Given the description of an element on the screen output the (x, y) to click on. 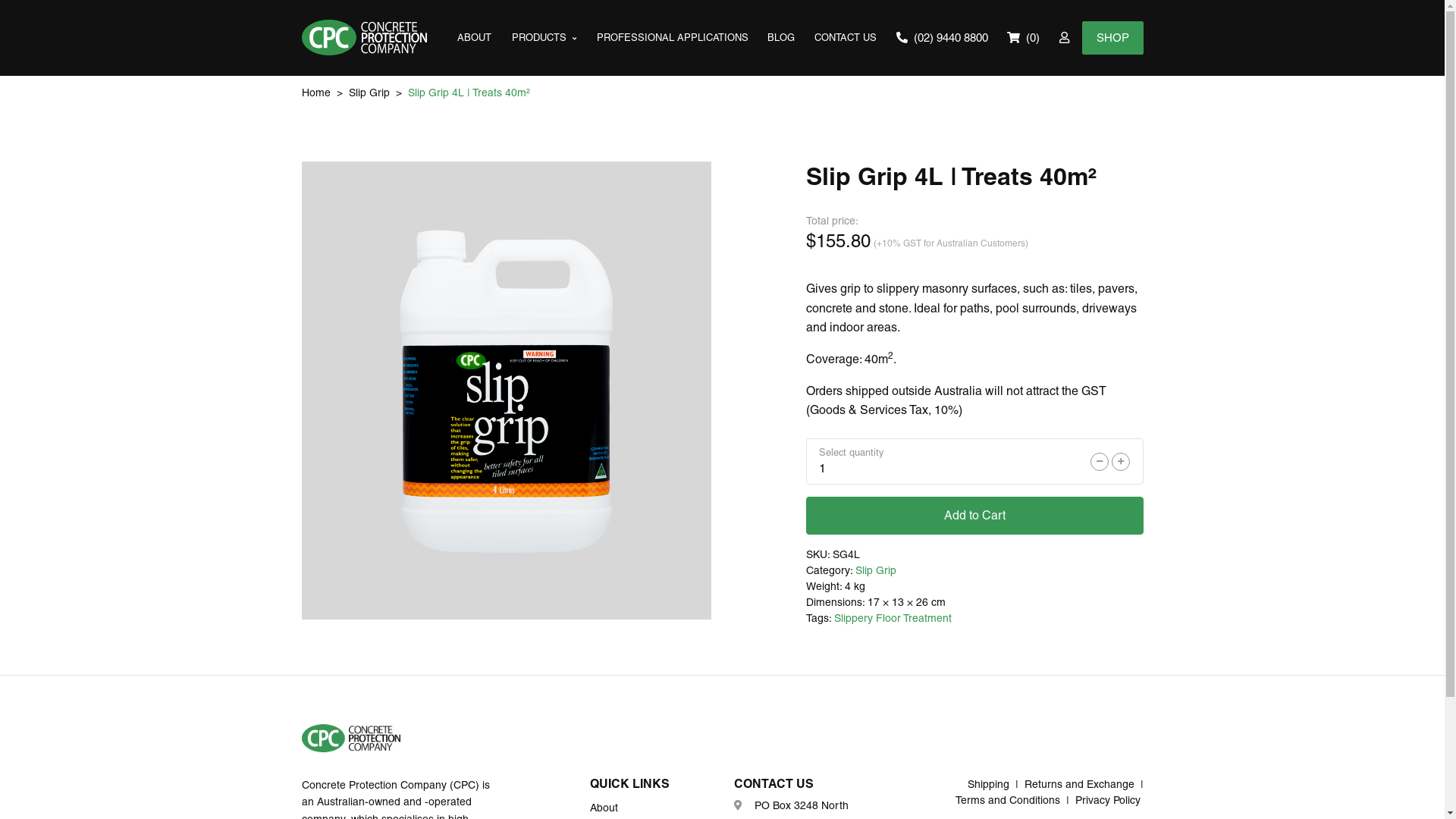
BLOG Element type: text (781, 37)
PRODUCTS Element type: text (543, 37)
Add to Cart Element type: text (973, 515)
Returns and Exchange Element type: text (1078, 784)
(02) 9440 8800 Element type: text (941, 37)
ABOUT Element type: text (474, 37)
CONTACT US Element type: text (845, 37)
Home Element type: text (315, 92)
Slip Grip Element type: text (875, 570)
(0) Element type: text (1023, 37)
Terms and Conditions Element type: text (1007, 799)
Slippery Floor Treatment Element type: text (892, 617)
Shipping Element type: text (988, 784)
Privacy Policy Element type: text (1107, 799)
SHOP Element type: text (1111, 38)
PROFESSIONAL APPLICATIONS Element type: text (672, 37)
